Given the description of an element on the screen output the (x, y) to click on. 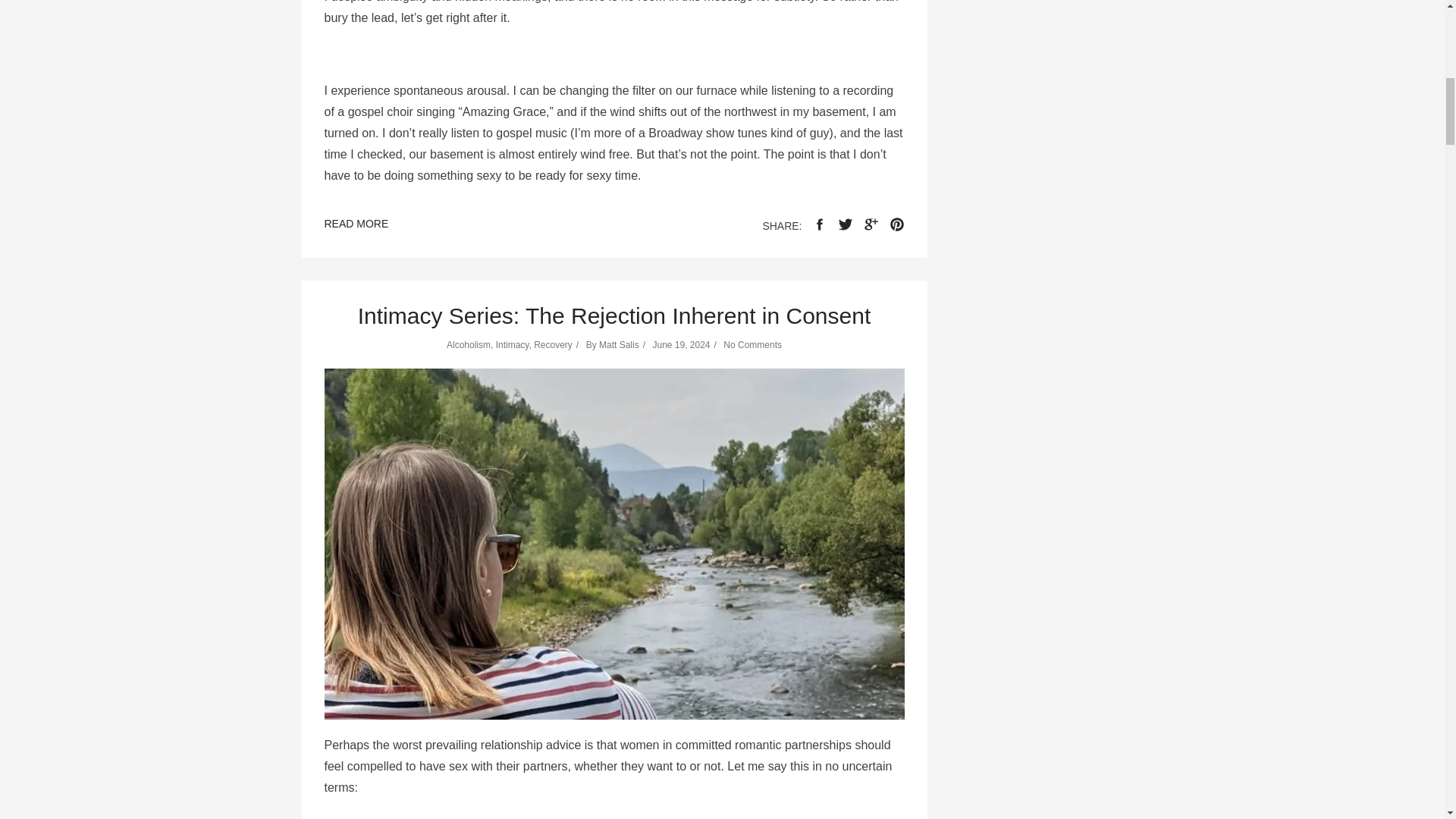
READ MORE (356, 226)
Recovery (553, 344)
Intimacy (512, 344)
No Comments (752, 344)
June 19, 2024 (681, 344)
Intimacy Series: The Rejection Inherent in Consent (614, 315)
Alcoholism (468, 344)
Matt Salis (618, 344)
